Given the description of an element on the screen output the (x, y) to click on. 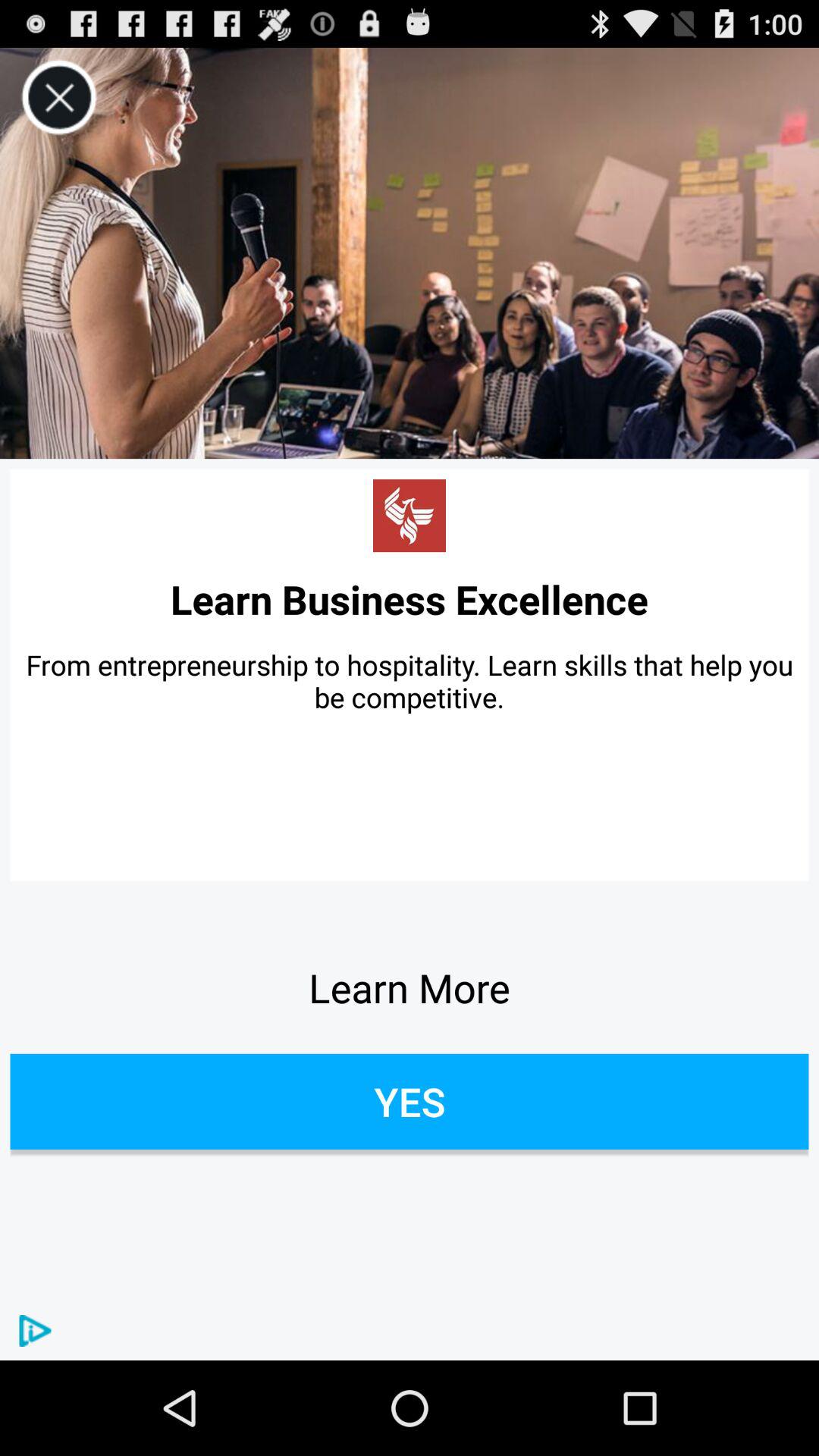
go home (409, 515)
